Given the description of an element on the screen output the (x, y) to click on. 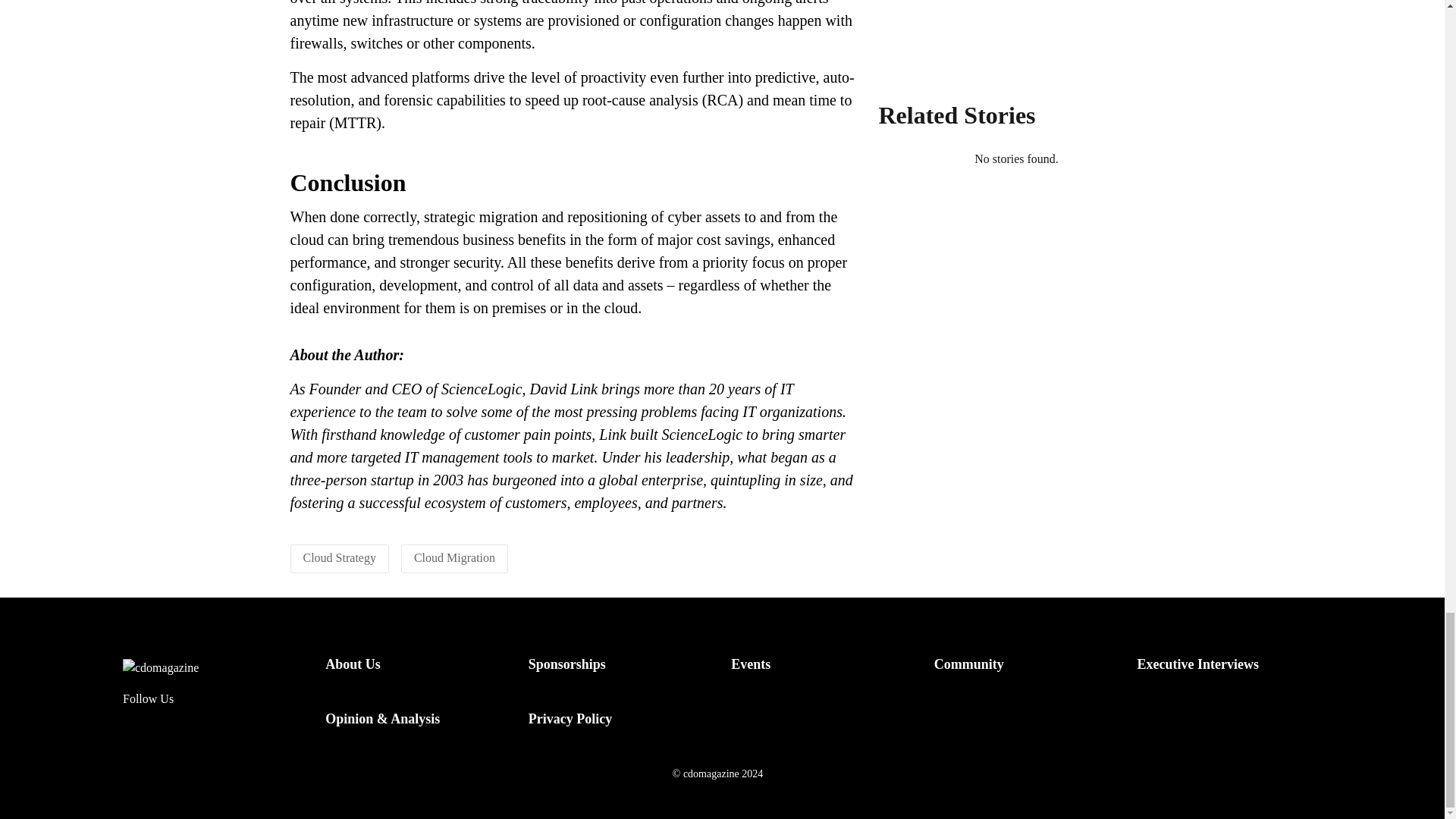
Events (750, 663)
Privacy Policy (569, 718)
About Us (352, 663)
Cloud Migration (454, 557)
Sponsorships (566, 663)
Executive Interviews (1197, 663)
Community (969, 663)
Cloud Strategy (338, 557)
